Given the description of an element on the screen output the (x, y) to click on. 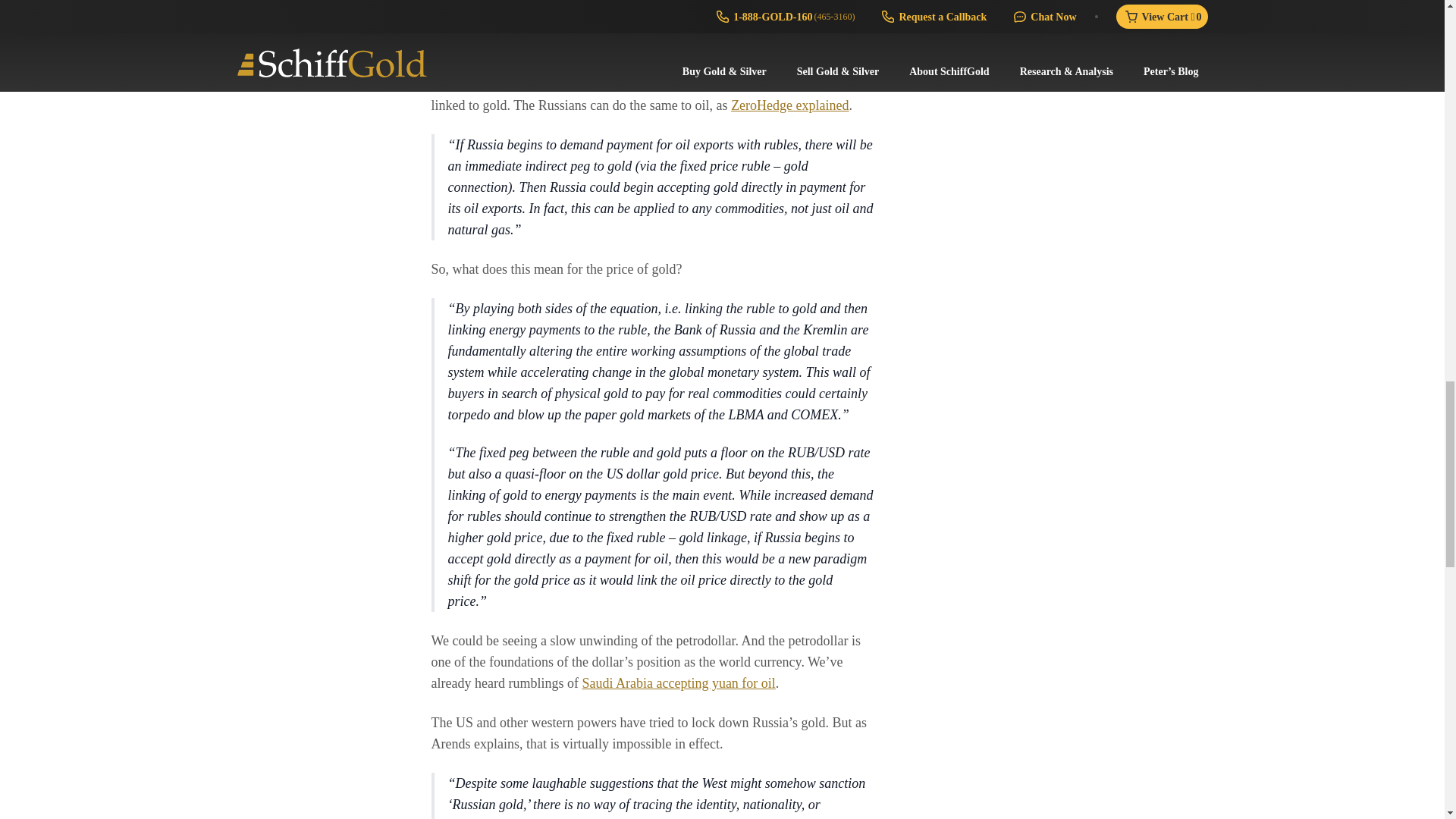
Saudi Arabia accepting yuan for oil (677, 683)
ZeroHedge explained (789, 105)
